Given the description of an element on the screen output the (x, y) to click on. 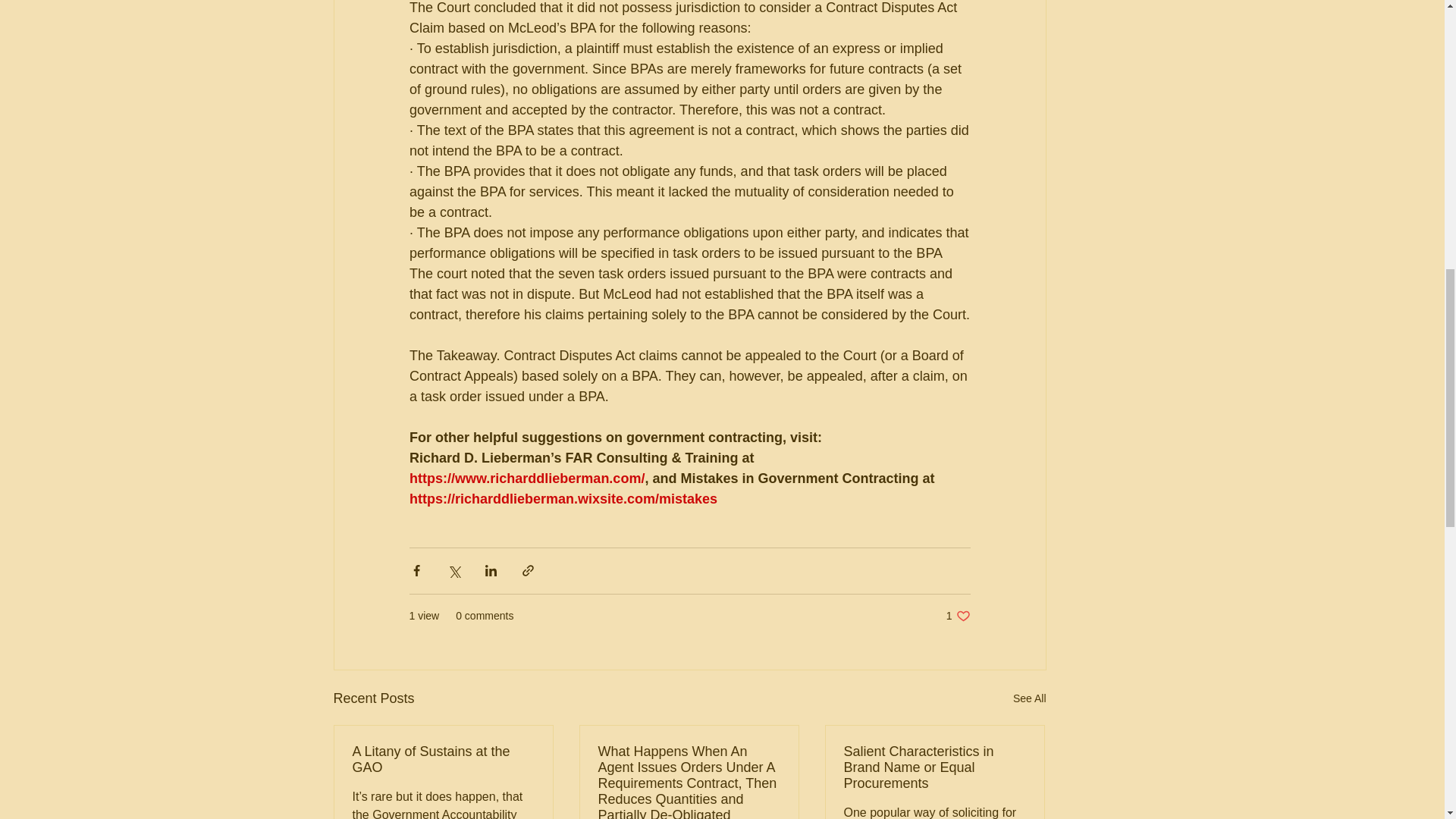
A Litany of Sustains at the GAO (443, 759)
See All (958, 616)
